Given the description of an element on the screen output the (x, y) to click on. 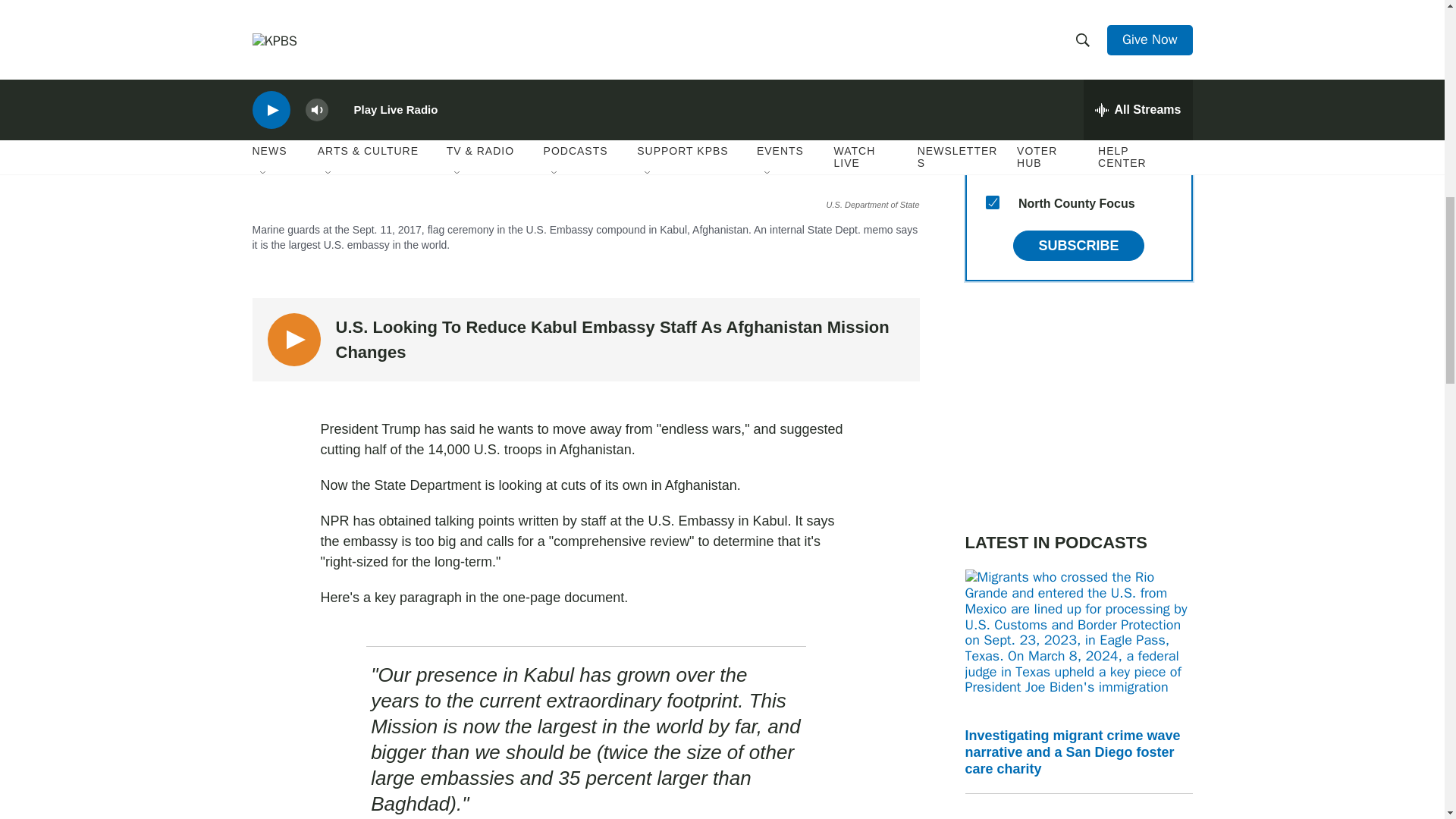
8 (991, 165)
2 (991, 92)
5 (991, 20)
15 (991, 202)
6 (991, 56)
1 (991, 129)
